Given the description of an element on the screen output the (x, y) to click on. 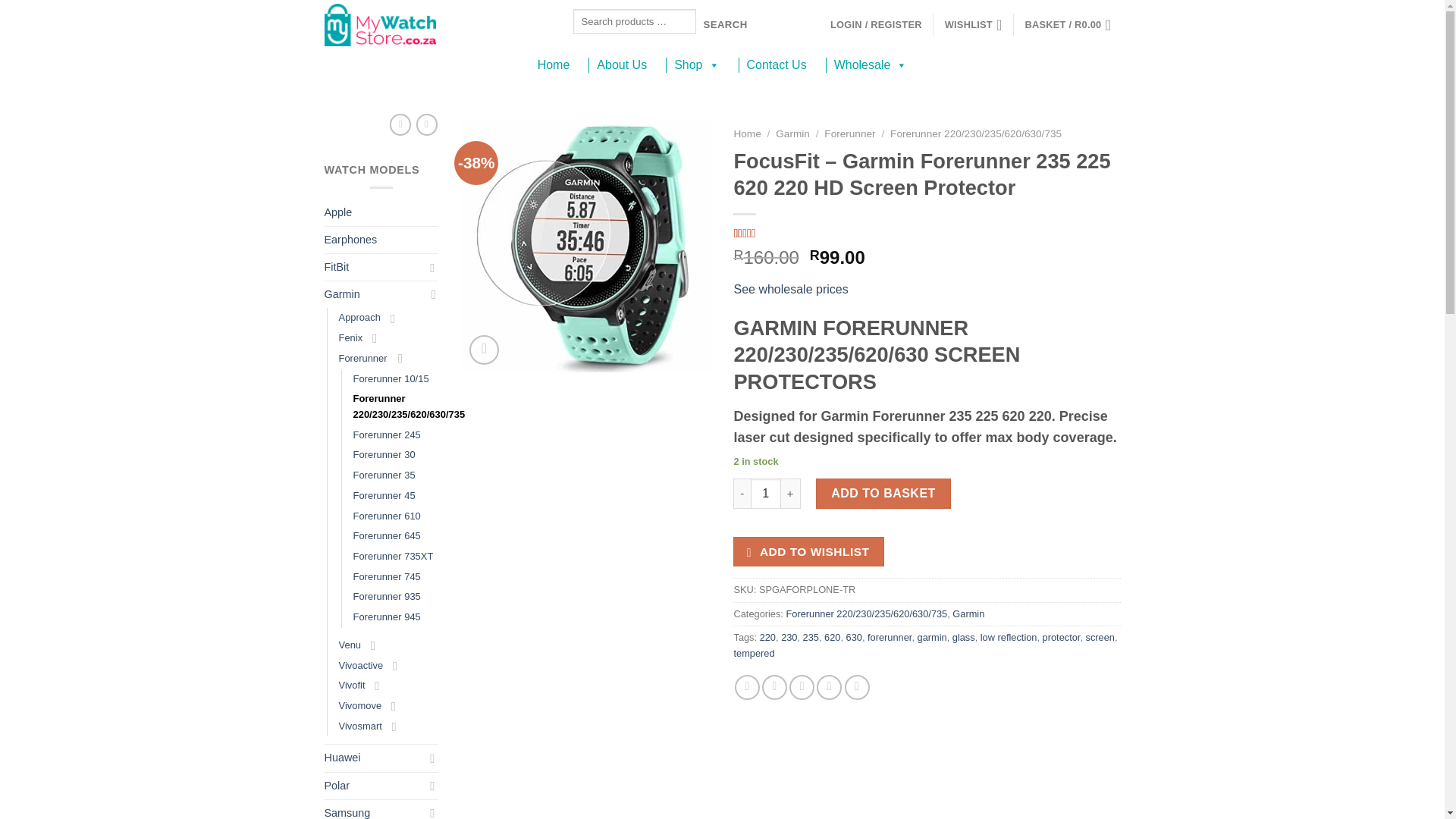
Qty (765, 493)
About Us (621, 64)
Shop (696, 64)
1 (765, 493)
MyWatchStore.co.za - Smart Watch Accessories (437, 24)
Zoom (483, 349)
SEARCH (724, 24)
Basket (1072, 24)
WISHLIST (973, 24)
Home (553, 64)
